Given the description of an element on the screen output the (x, y) to click on. 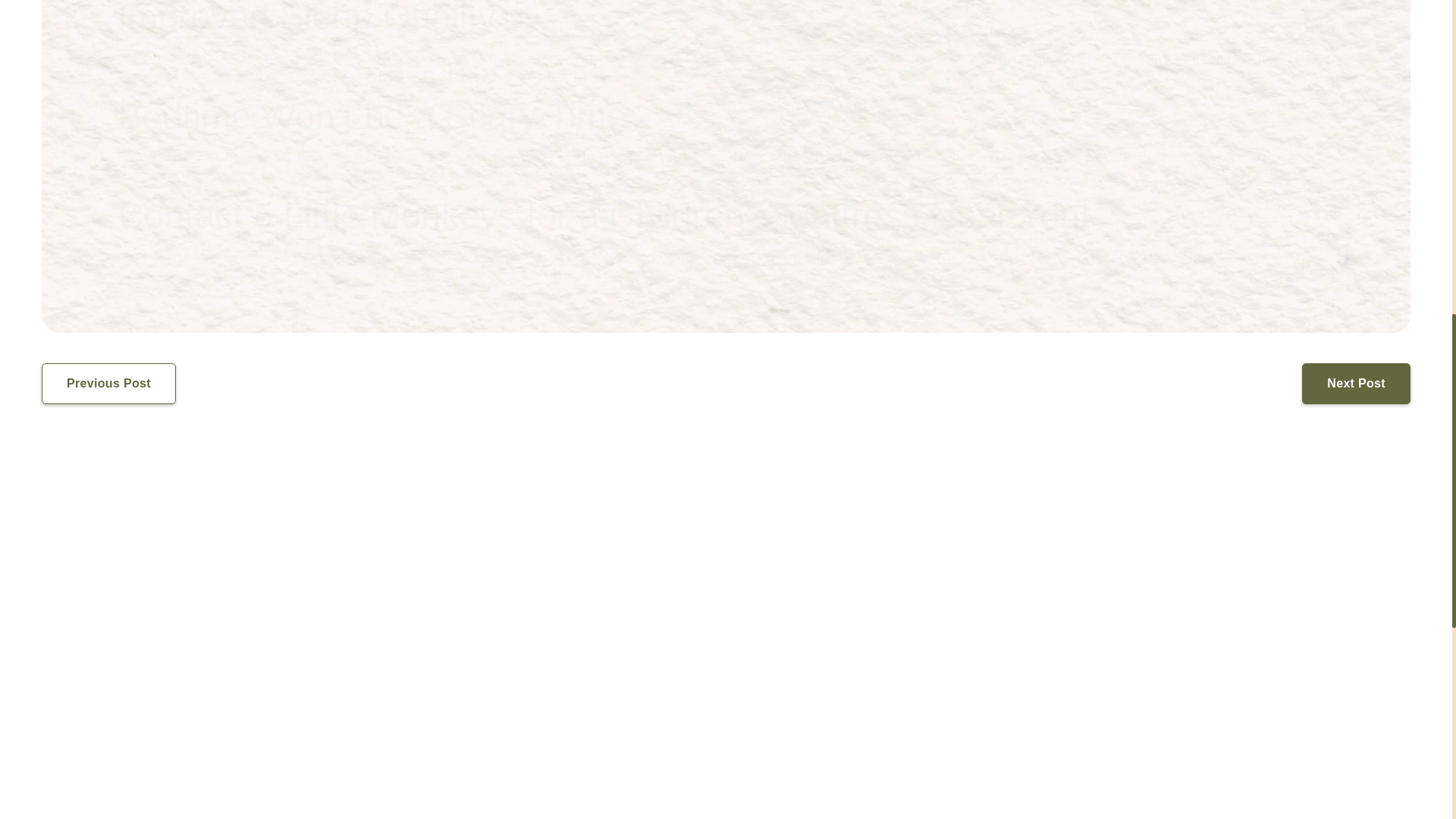
Next Post (1355, 383)
Previous Post (109, 383)
sleep system for kids (786, 255)
